Given the description of an element on the screen output the (x, y) to click on. 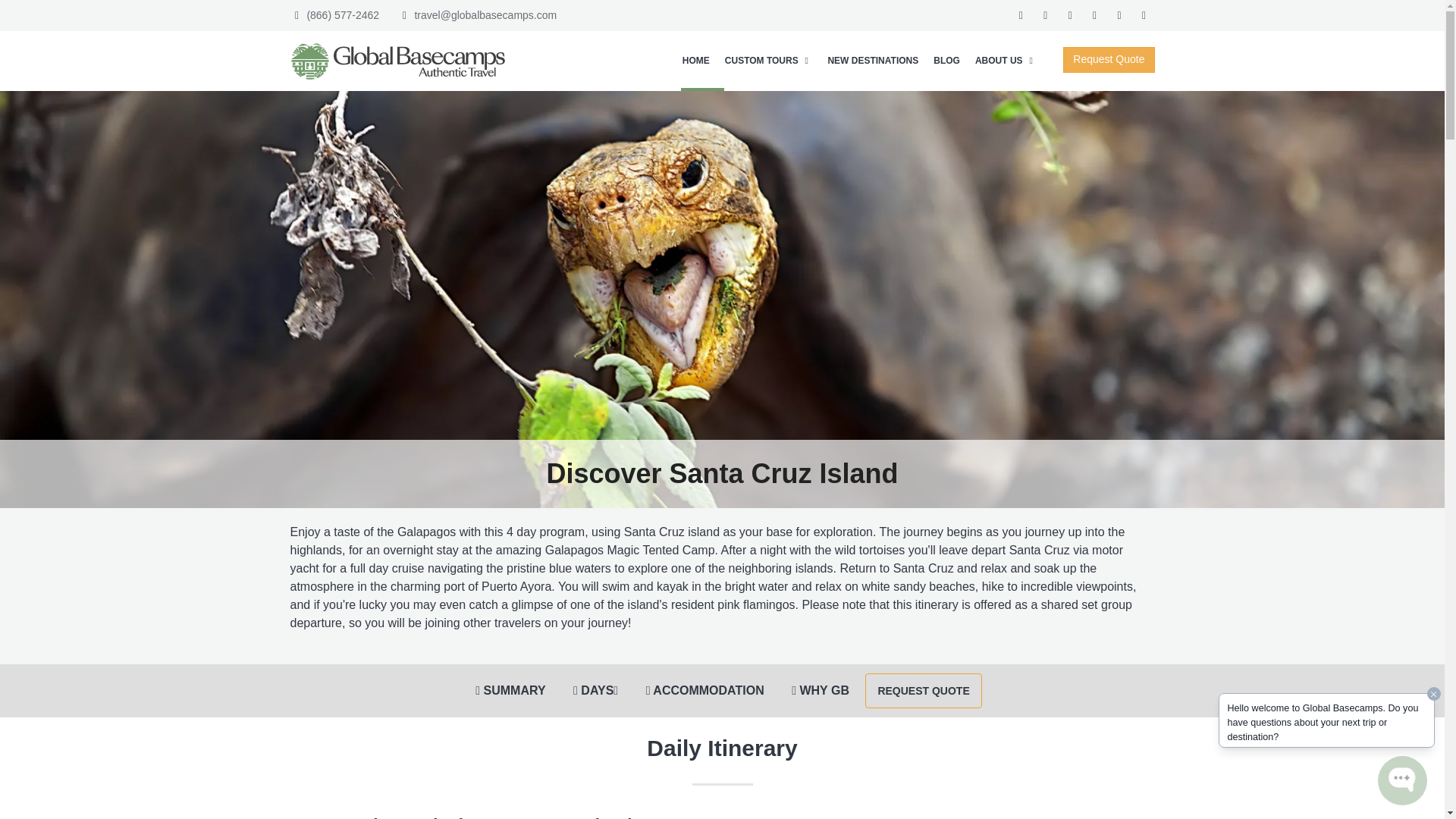
CUSTOM TOURS (769, 60)
Request Quote (1098, 59)
